Given the description of an element on the screen output the (x, y) to click on. 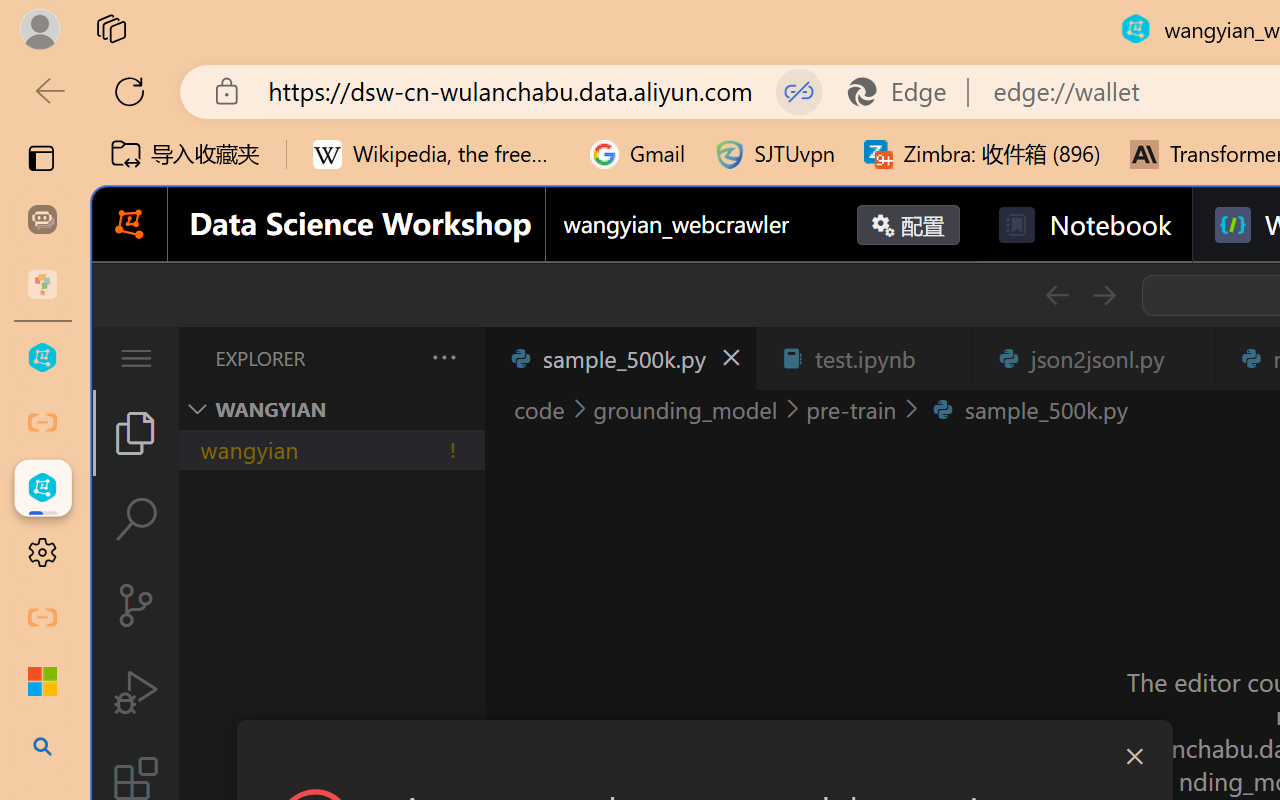
Cover (1016, 111)
Split (523, 111)
None (113, 111)
Push (359, 111)
